Given the description of an element on the screen output the (x, y) to click on. 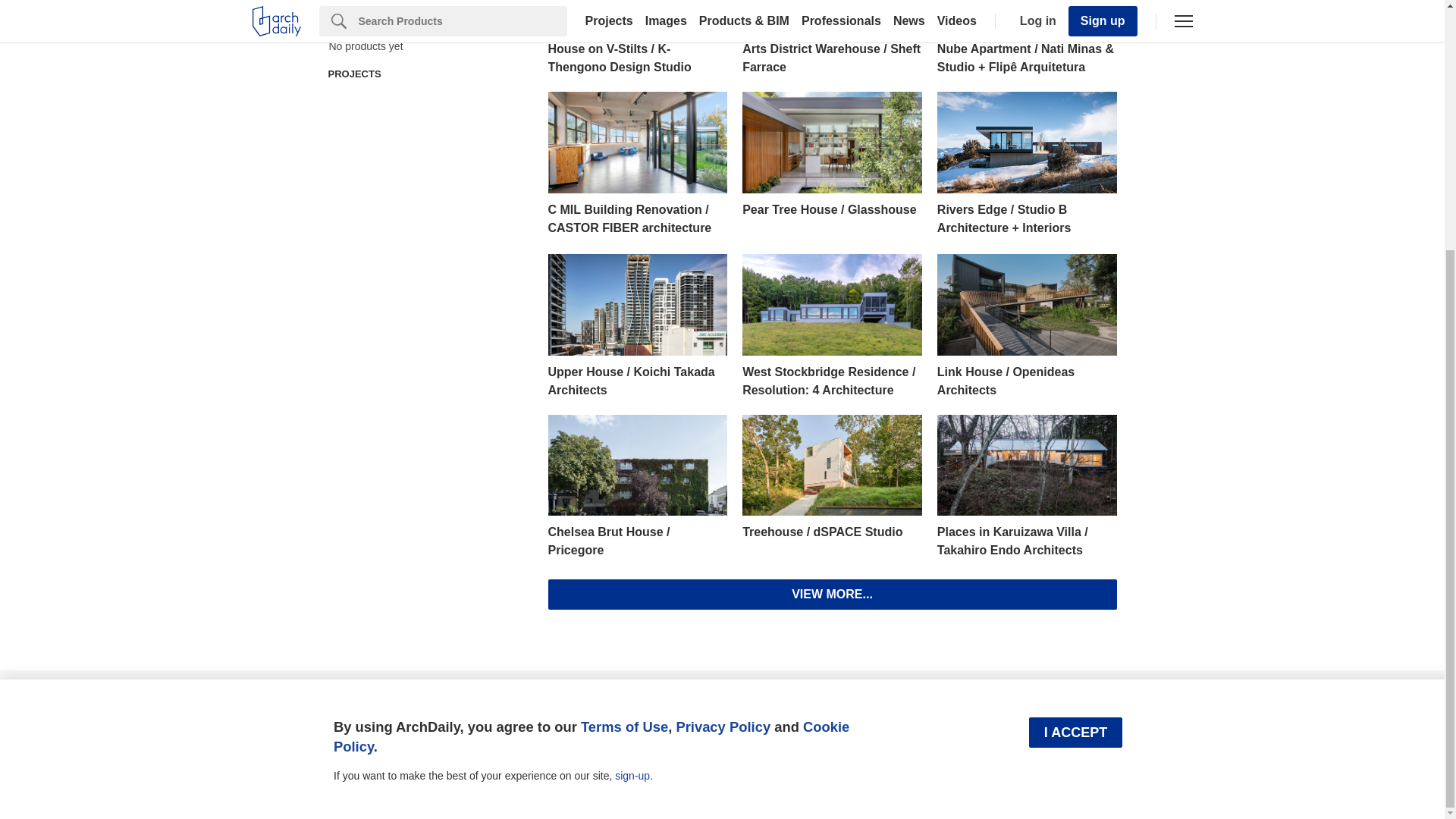
Imprint (346, 700)
